Given the description of an element on the screen output the (x, y) to click on. 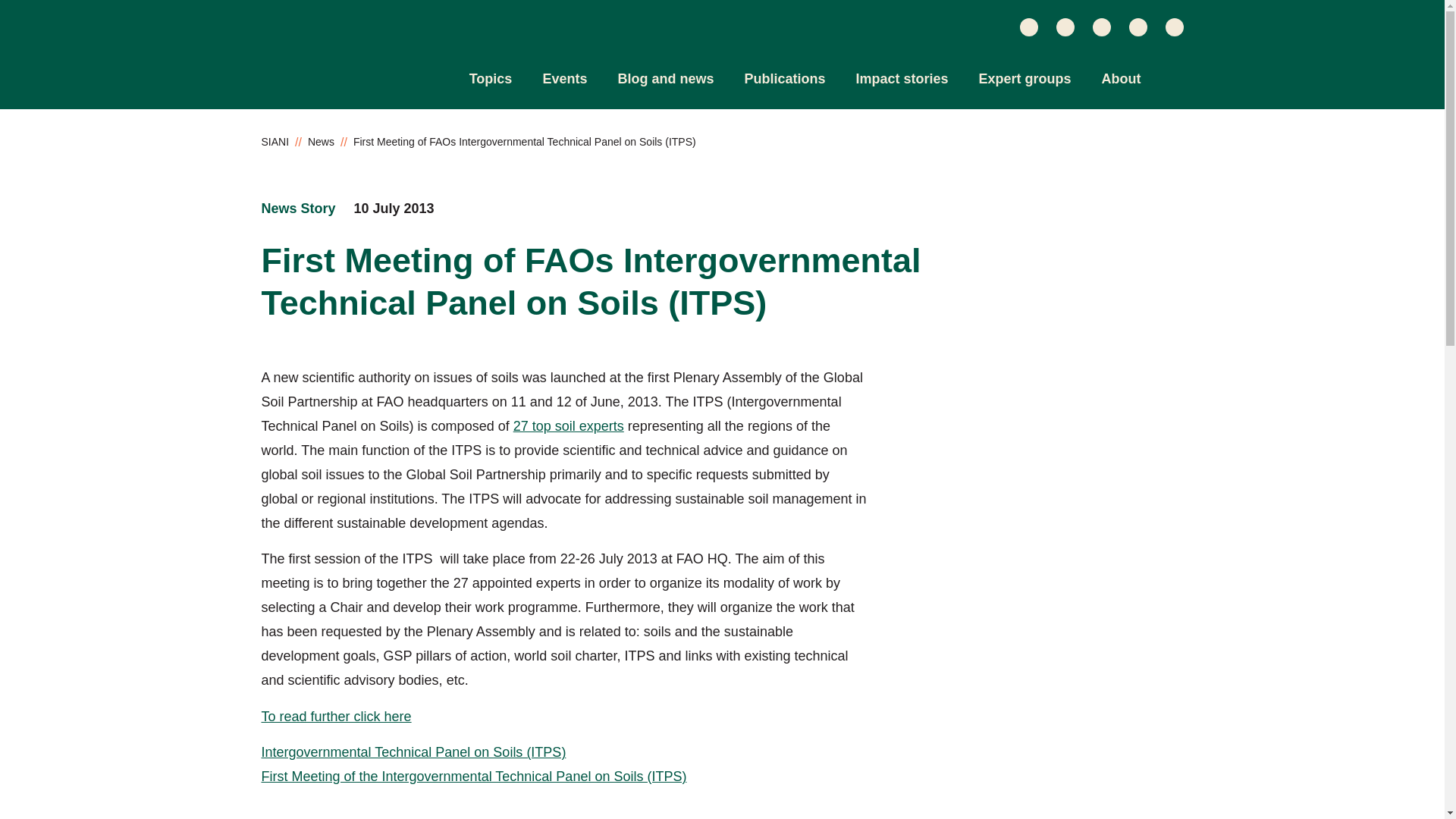
LinkedIn (1064, 27)
Twitter (1027, 27)
Facebook (1137, 27)
Expert groups (1024, 79)
Youtube (1100, 27)
Publications (784, 79)
Impact stories (901, 79)
View archive (297, 209)
Events (563, 79)
SIANI Logo (322, 69)
Blog and news (665, 79)
Instagram (1173, 27)
About (1121, 79)
Opens internal link in current window (568, 426)
Topics (490, 79)
